Given the description of an element on the screen output the (x, y) to click on. 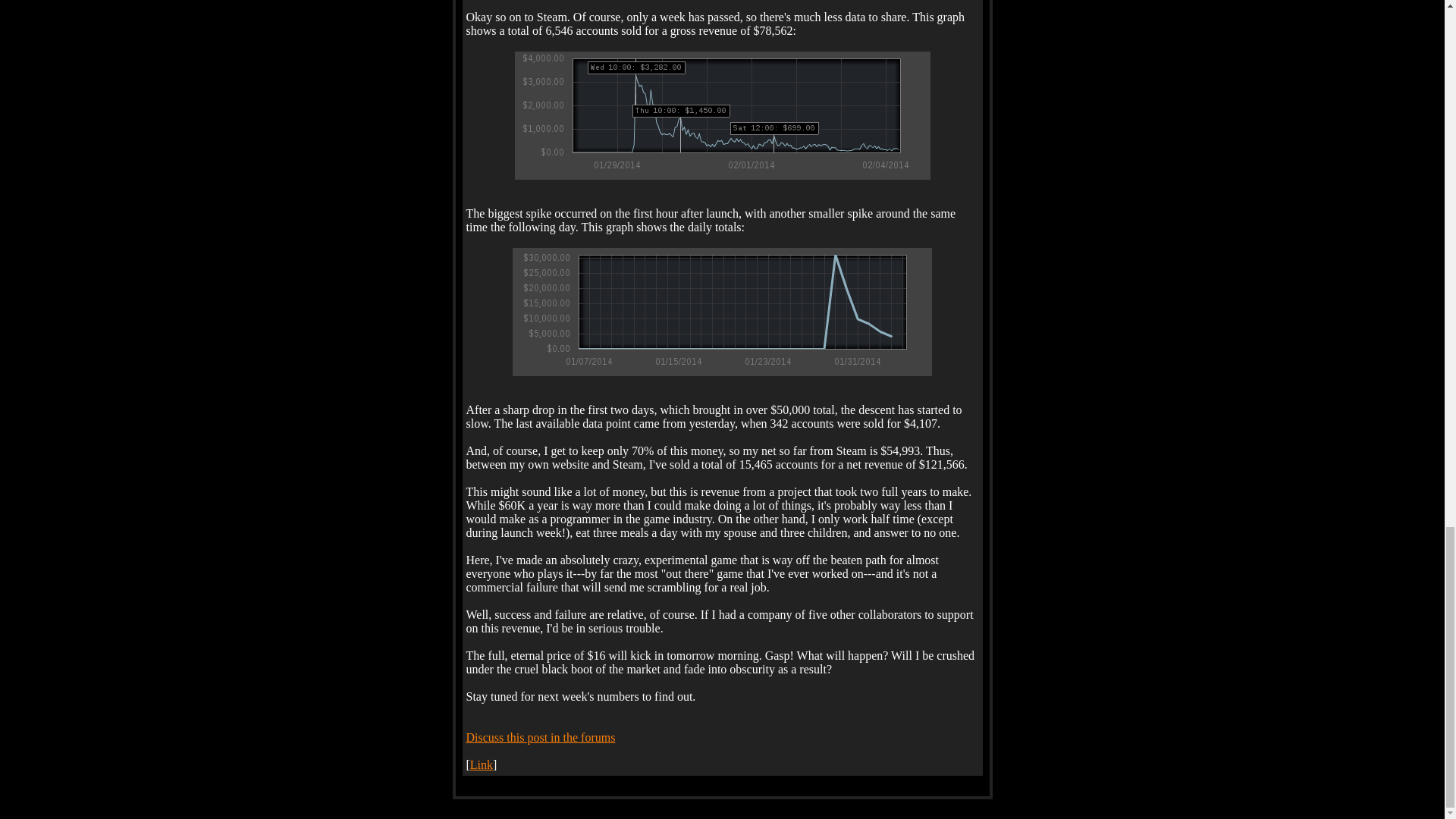
Link (481, 764)
Discuss this post in the forums (539, 737)
Permanent link for this post (481, 764)
